Given the description of an element on the screen output the (x, y) to click on. 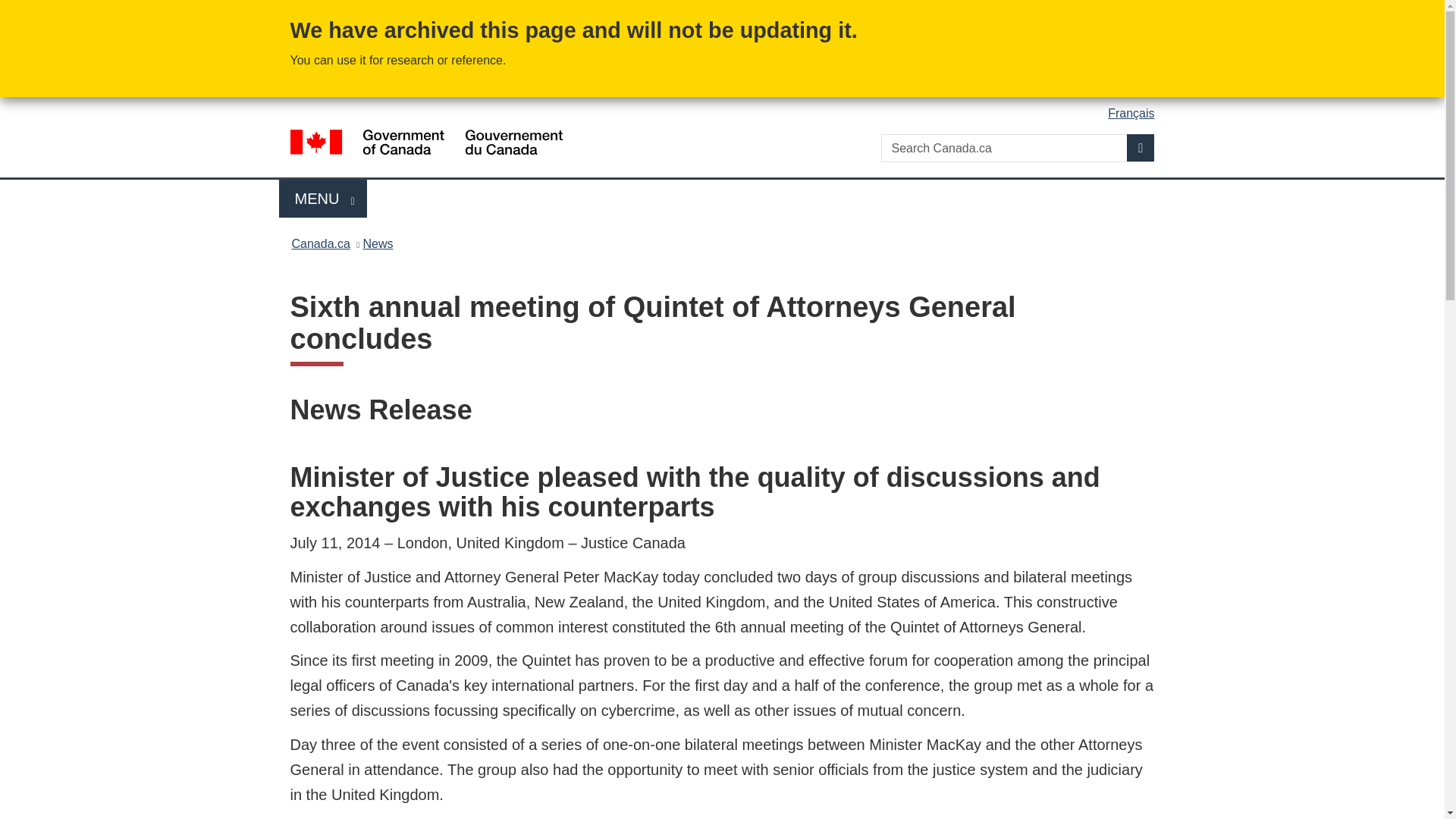
Canada.ca (320, 243)
Search (1140, 147)
Skip to main content (725, 11)
News (322, 198)
